Given the description of an element on the screen output the (x, y) to click on. 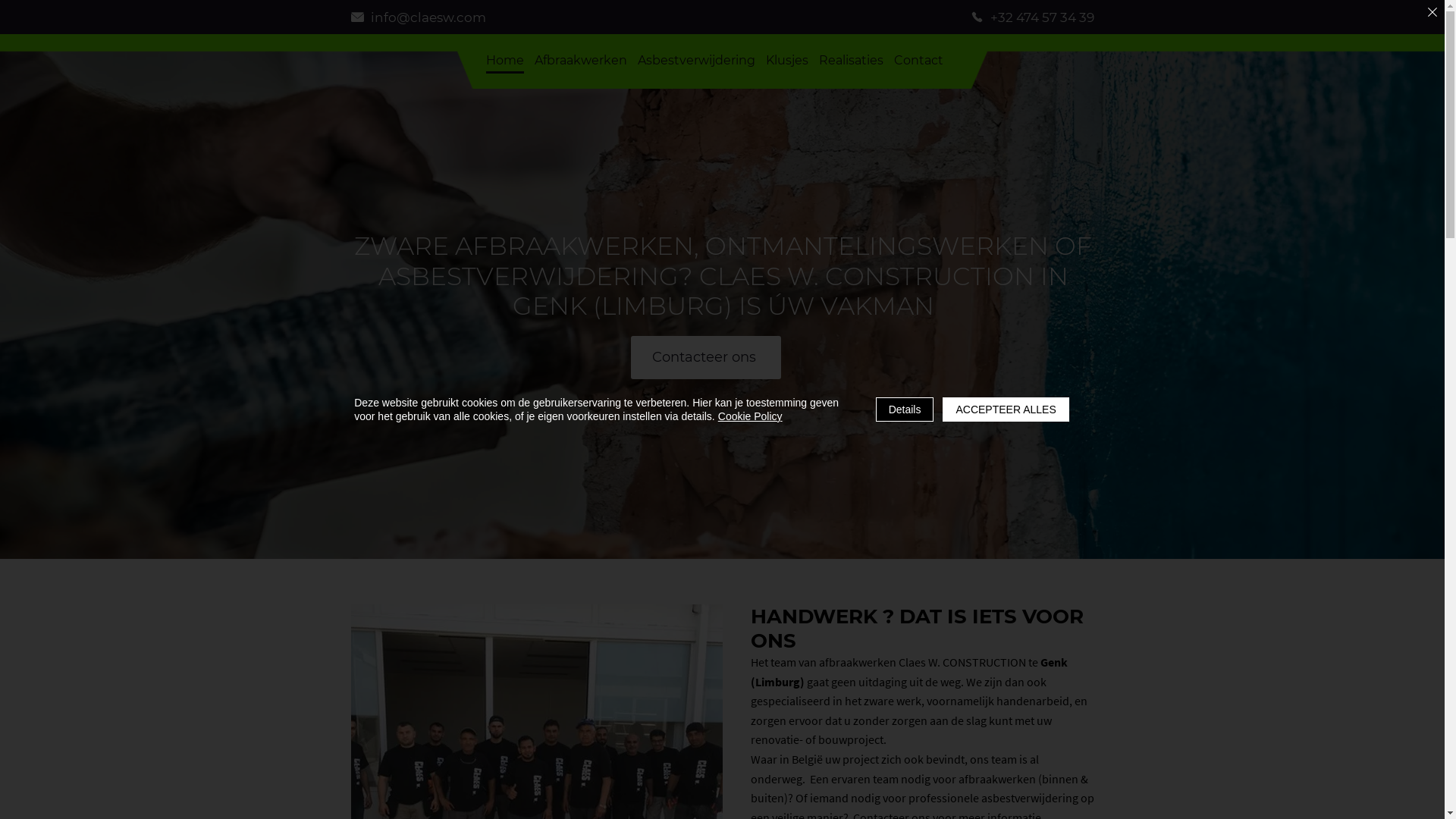
Realisaties Element type: text (851, 61)
+32 474 57 34 39 Element type: text (989, 16)
Contact Element type: text (917, 61)
info@claesw.com Element type: text (454, 16)
Asbestverwijdering Element type: text (695, 61)
Cookie Policy Element type: text (750, 416)
afbraakwerken Element type: text (996, 778)
Home Element type: text (504, 61)
Contacteer ons Element type: text (705, 357)
ACCEPTEER ALLES Element type: text (1005, 409)
asbestverwijdering Element type: text (1029, 797)
Klusjes Element type: text (786, 61)
Details Element type: text (904, 409)
Afbraakwerken Element type: text (579, 61)
